Given the description of an element on the screen output the (x, y) to click on. 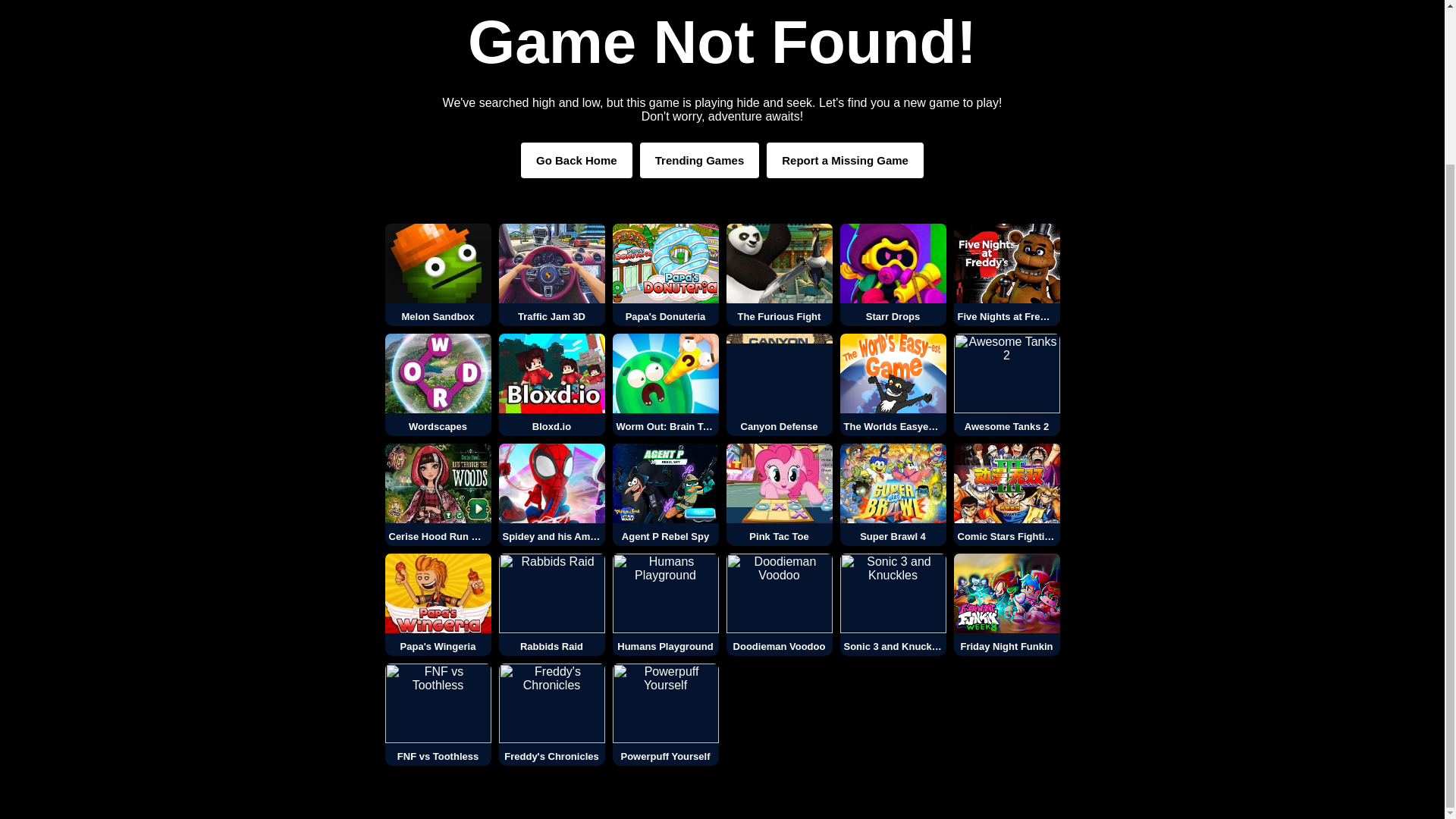
Comic Stars Fighting 3.2 (1006, 494)
Papa's Donuteria (665, 274)
Pink Tac Toe (779, 494)
Report a Missing Game (845, 160)
Powerpuff Yourself (665, 714)
Trending Games (700, 160)
Cerise Hood Run Through the Woods (438, 494)
Papa's Wingeria (438, 604)
Starr Drops (893, 274)
The Worlds Easyest Game (893, 384)
